Given the description of an element on the screen output the (x, y) to click on. 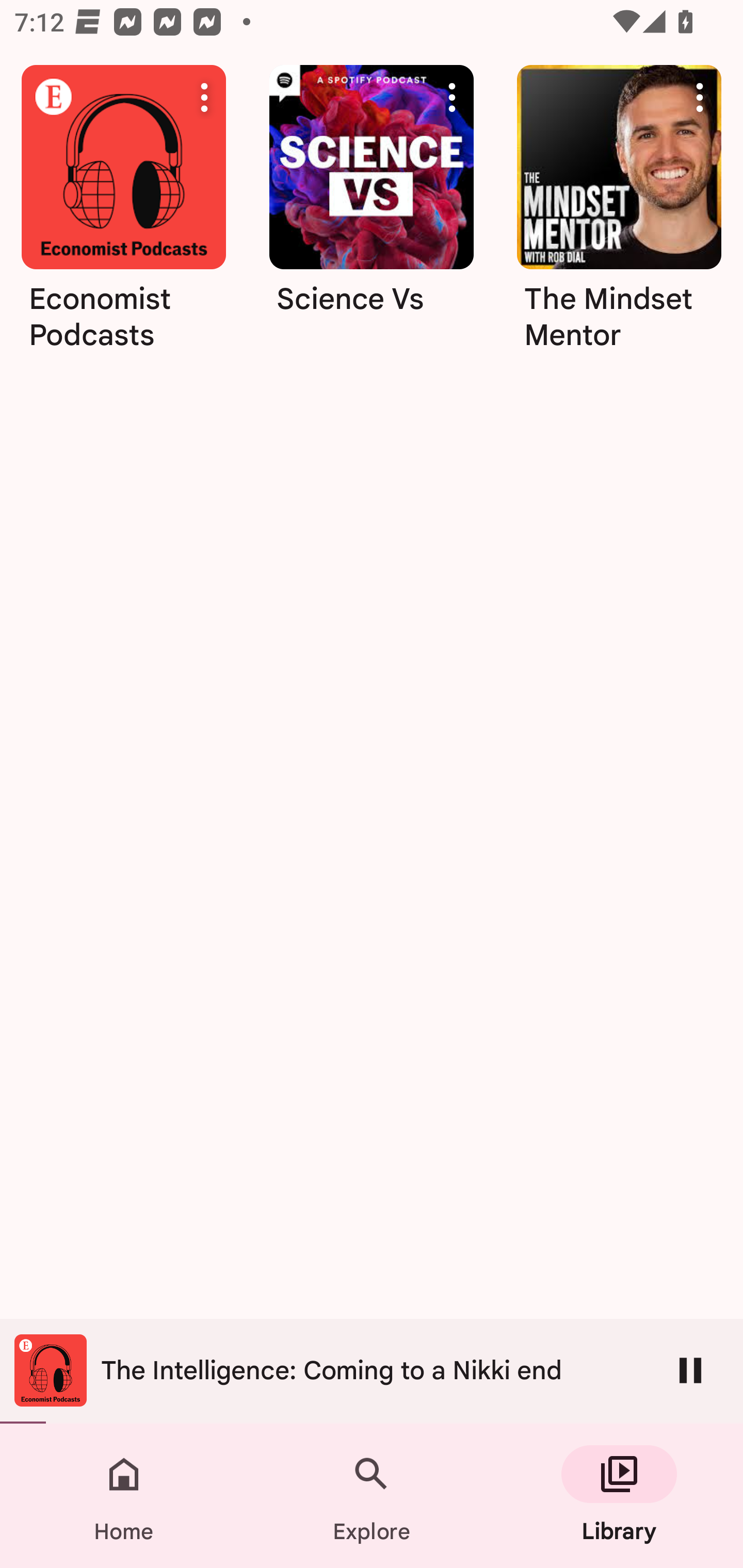
Economist Podcasts More actions Economist Podcasts (123, 214)
Science Vs More actions Science Vs (371, 214)
The Mindset Mentor More actions The Mindset Mentor (619, 214)
More actions (203, 97)
More actions (452, 97)
More actions (699, 97)
Pause (690, 1370)
Home (123, 1495)
Explore (371, 1495)
